Given the description of an element on the screen output the (x, y) to click on. 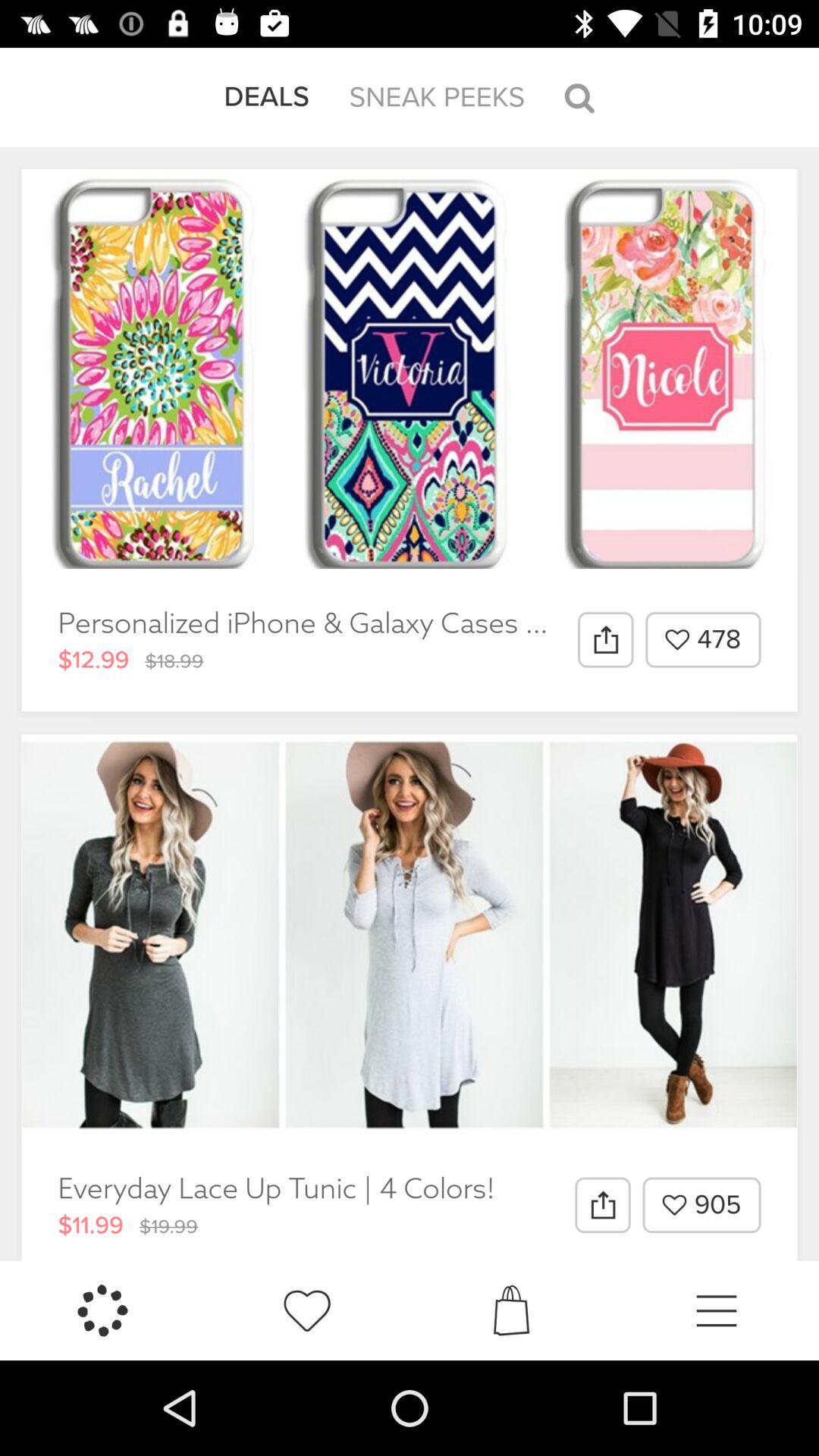
turn off the icon to the left of 905 (602, 1205)
